Given the description of an element on the screen output the (x, y) to click on. 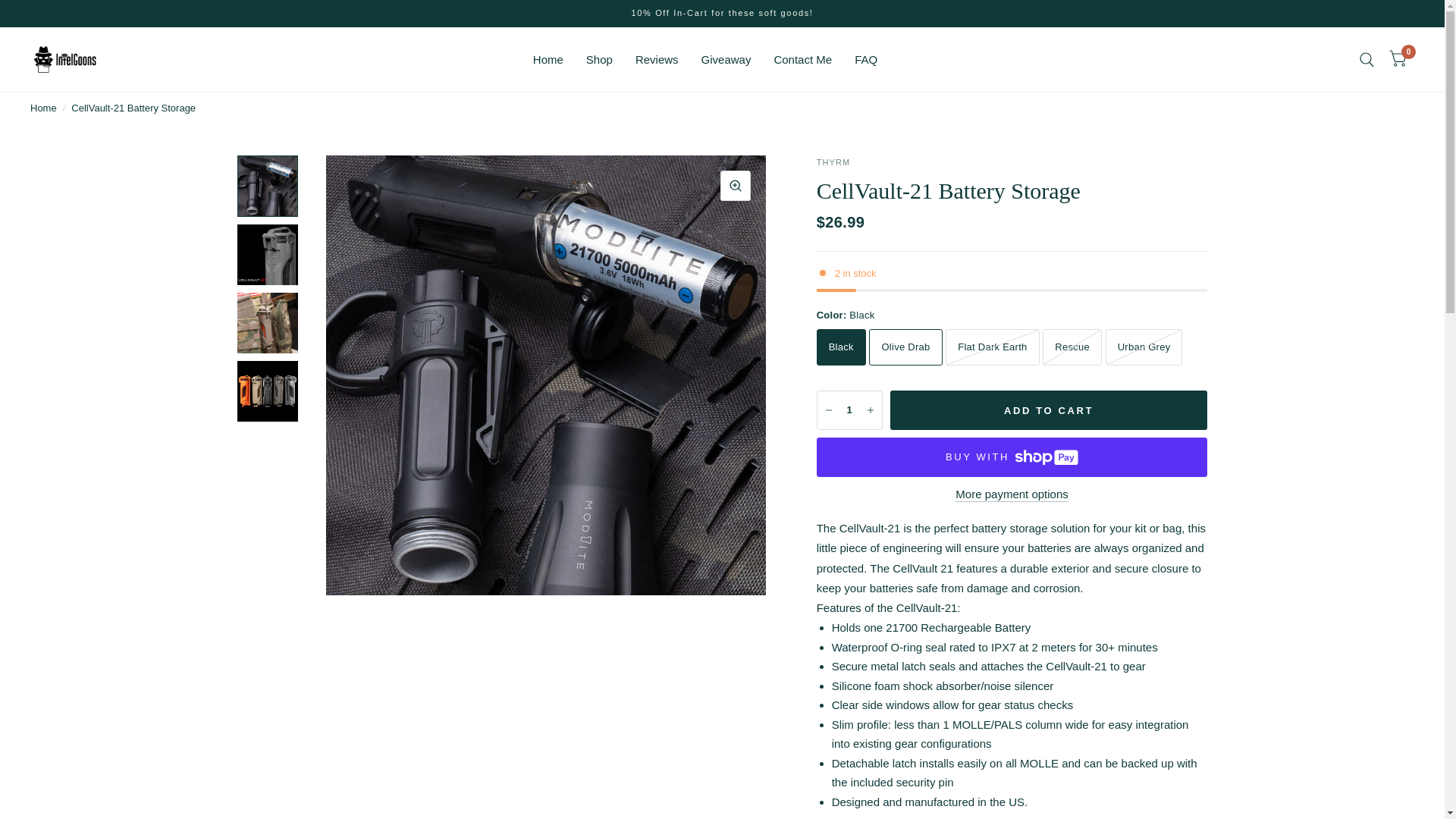
Contact Me (802, 59)
Reviews (656, 59)
Home (43, 108)
Giveaway (726, 59)
Home (43, 108)
Reviews (656, 59)
ADD TO CART (1048, 409)
Giveaway (726, 59)
Contact Me (802, 59)
More payment options (1011, 493)
